Given the description of an element on the screen output the (x, y) to click on. 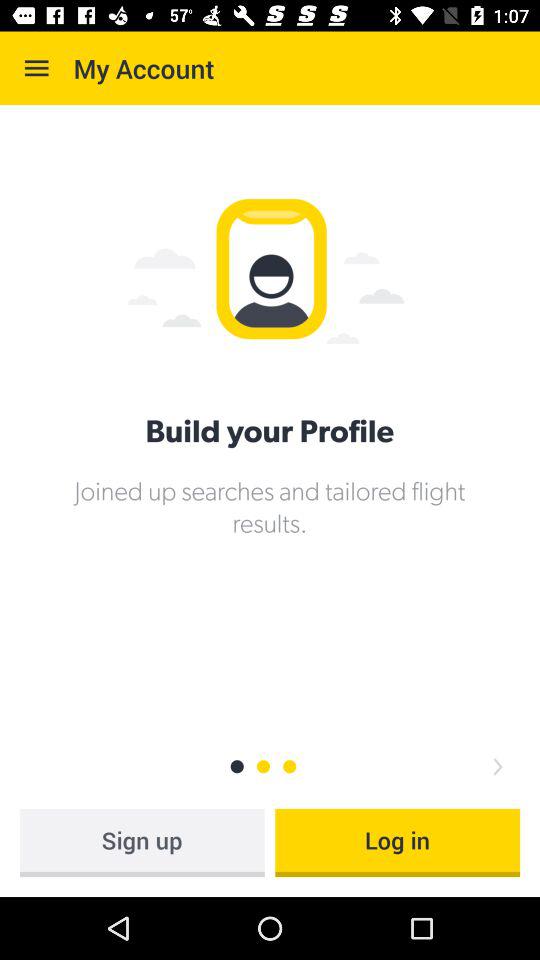
turn on the icon to the left of my account item (36, 68)
